Given the description of an element on the screen output the (x, y) to click on. 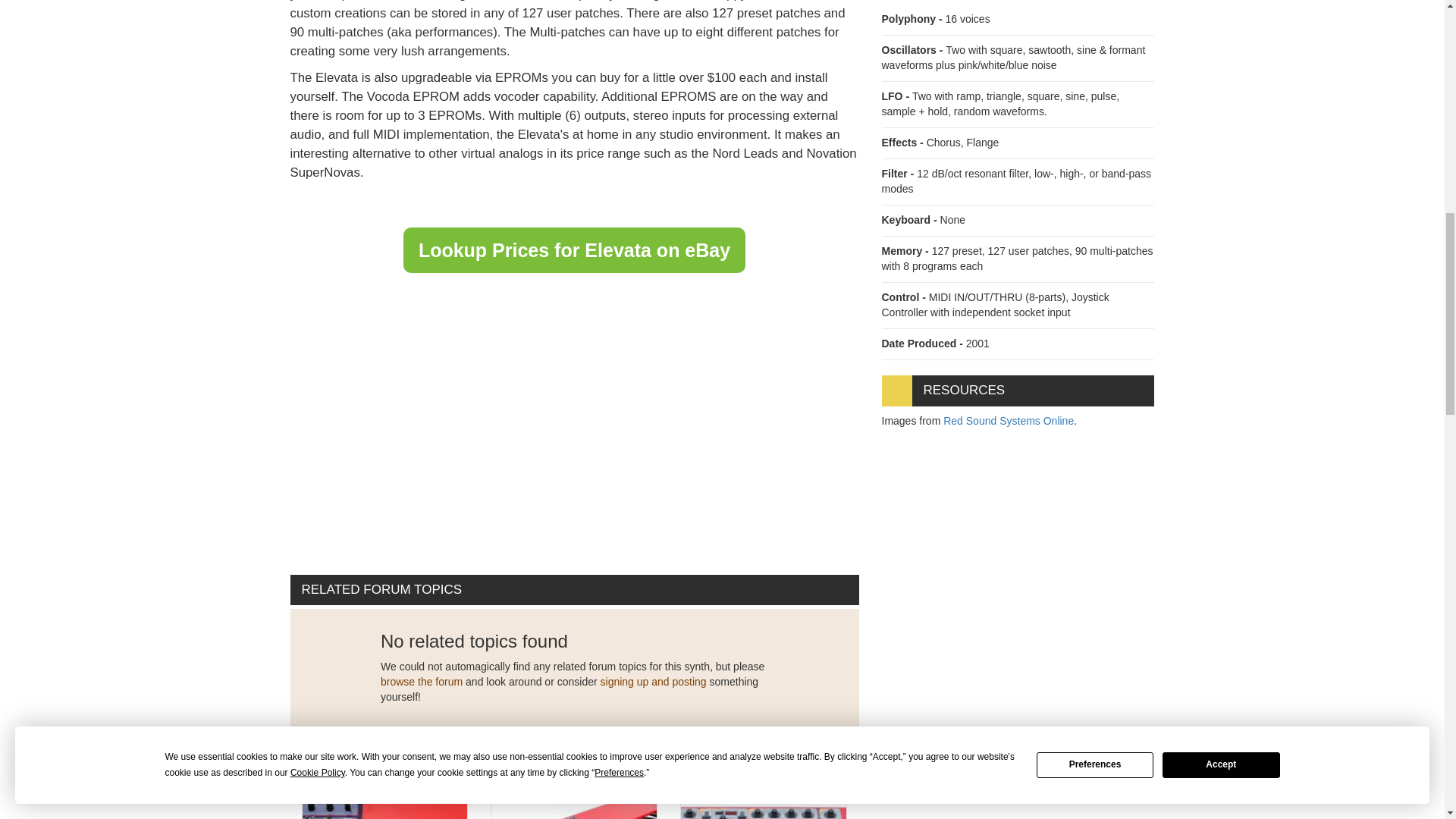
browse the forum (421, 681)
signing up and posting (652, 681)
Lookup Prices for Elevata on eBay (574, 249)
